Given the description of an element on the screen output the (x, y) to click on. 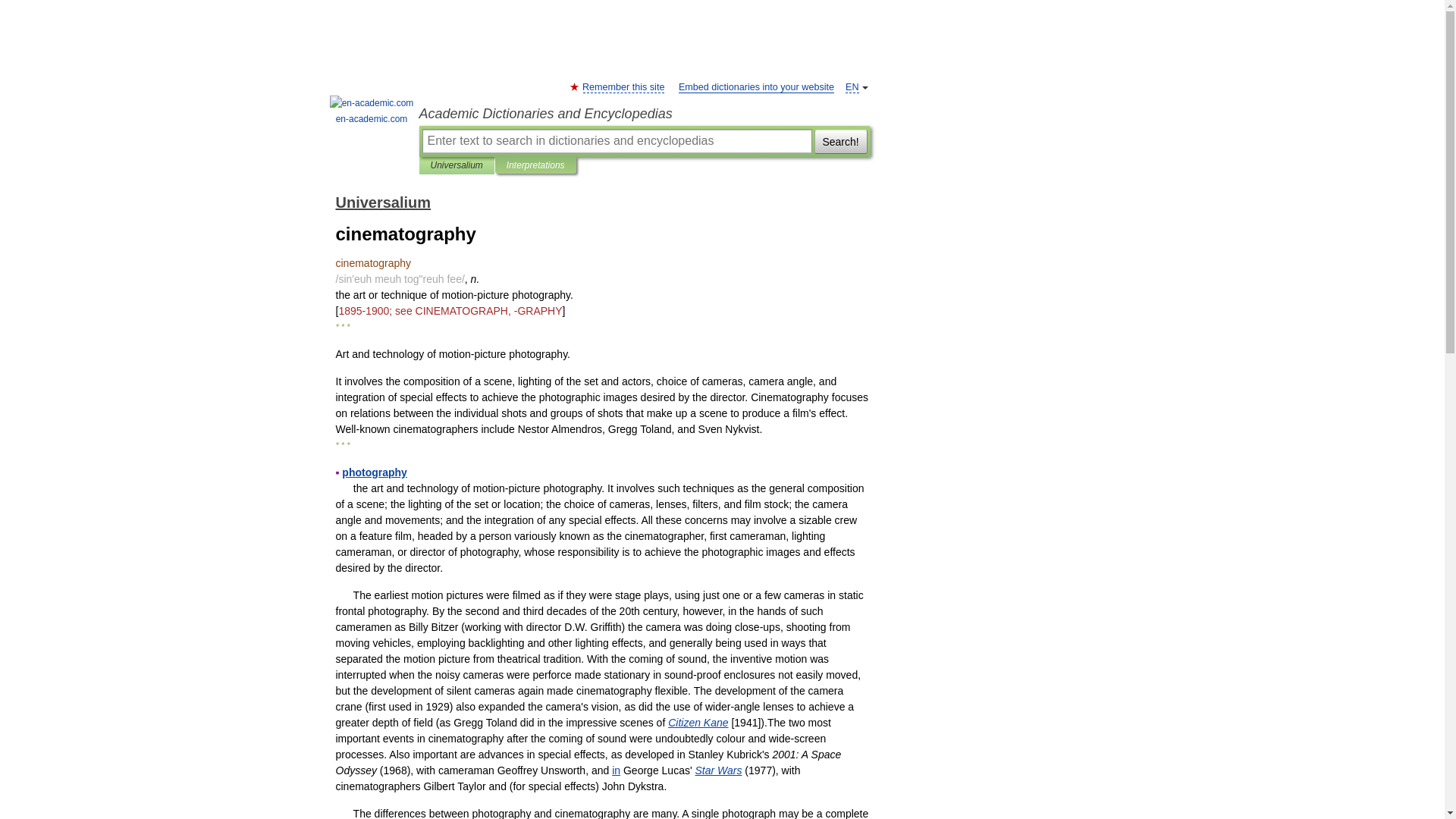
Remember this site (623, 87)
Interpretations (535, 165)
Embed dictionaries into your website (756, 87)
Citizen Kane (698, 722)
en-academic.com (371, 111)
Universalium (456, 165)
Enter text to search in dictionaries and encyclopedias (616, 140)
Search! (840, 140)
Universalium (382, 202)
photography (374, 472)
